Given the description of an element on the screen output the (x, y) to click on. 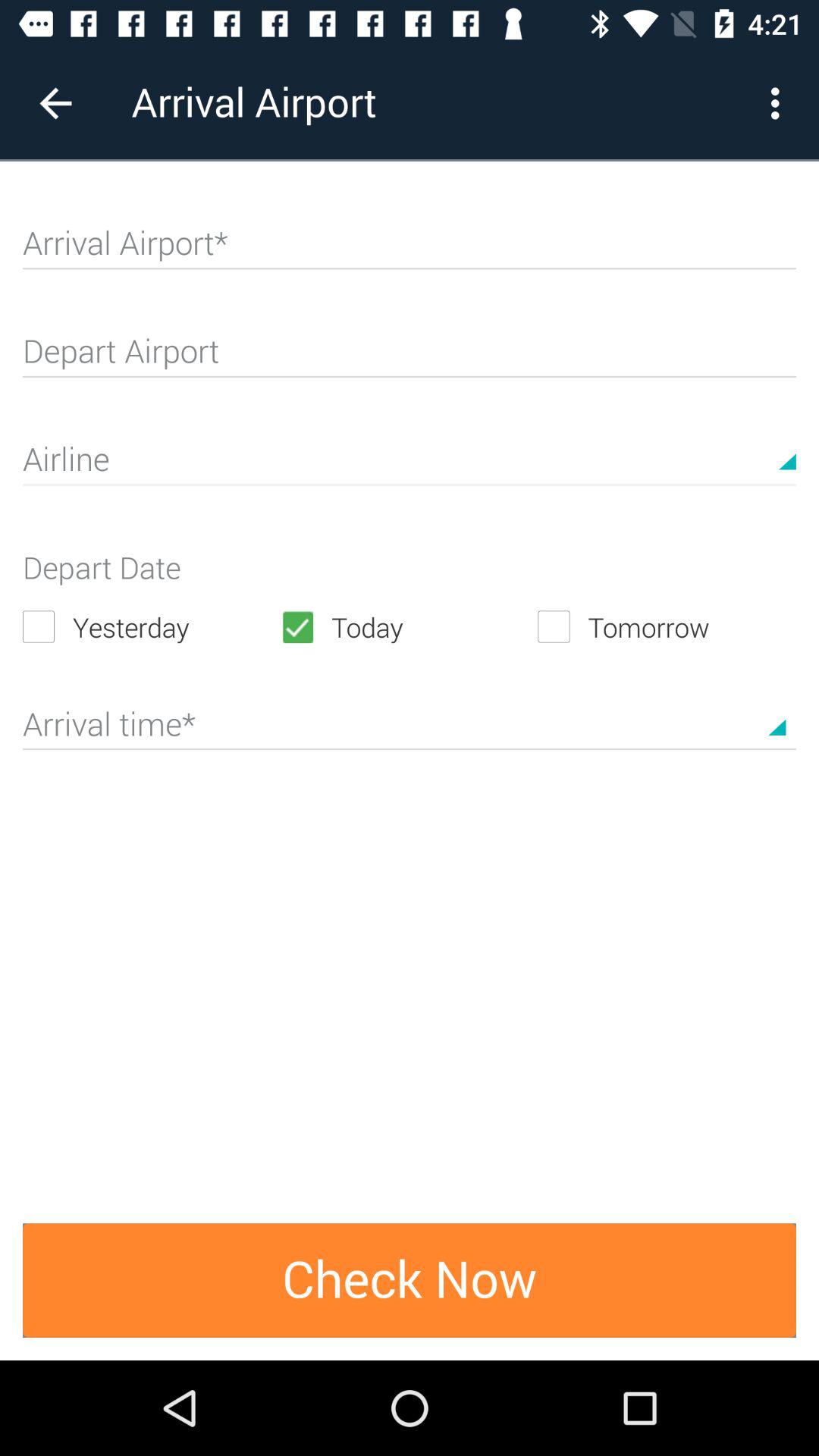
tap tomorrow (667, 626)
